Given the description of an element on the screen output the (x, y) to click on. 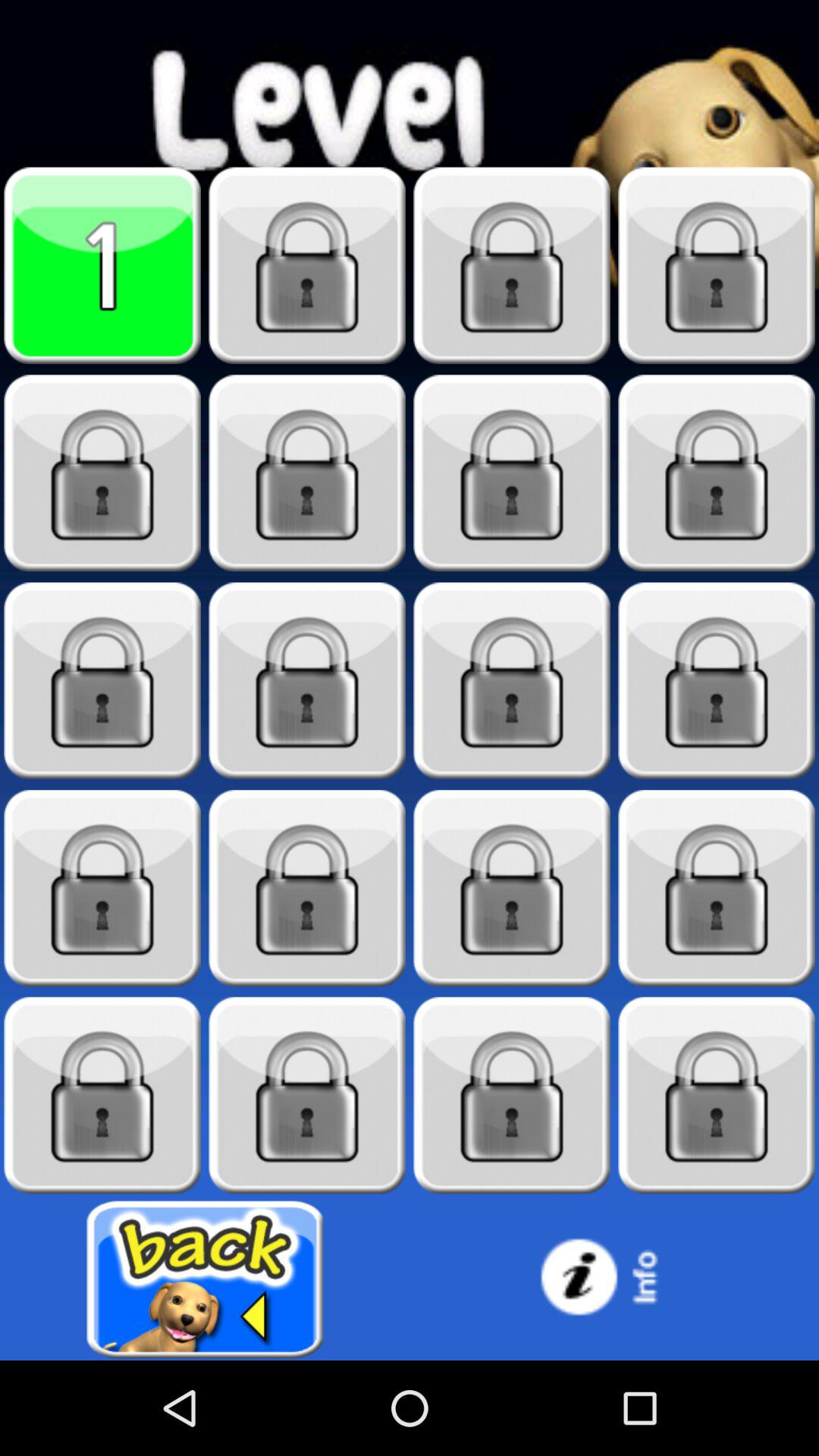
blocked (306, 473)
